Given the description of an element on the screen output the (x, y) to click on. 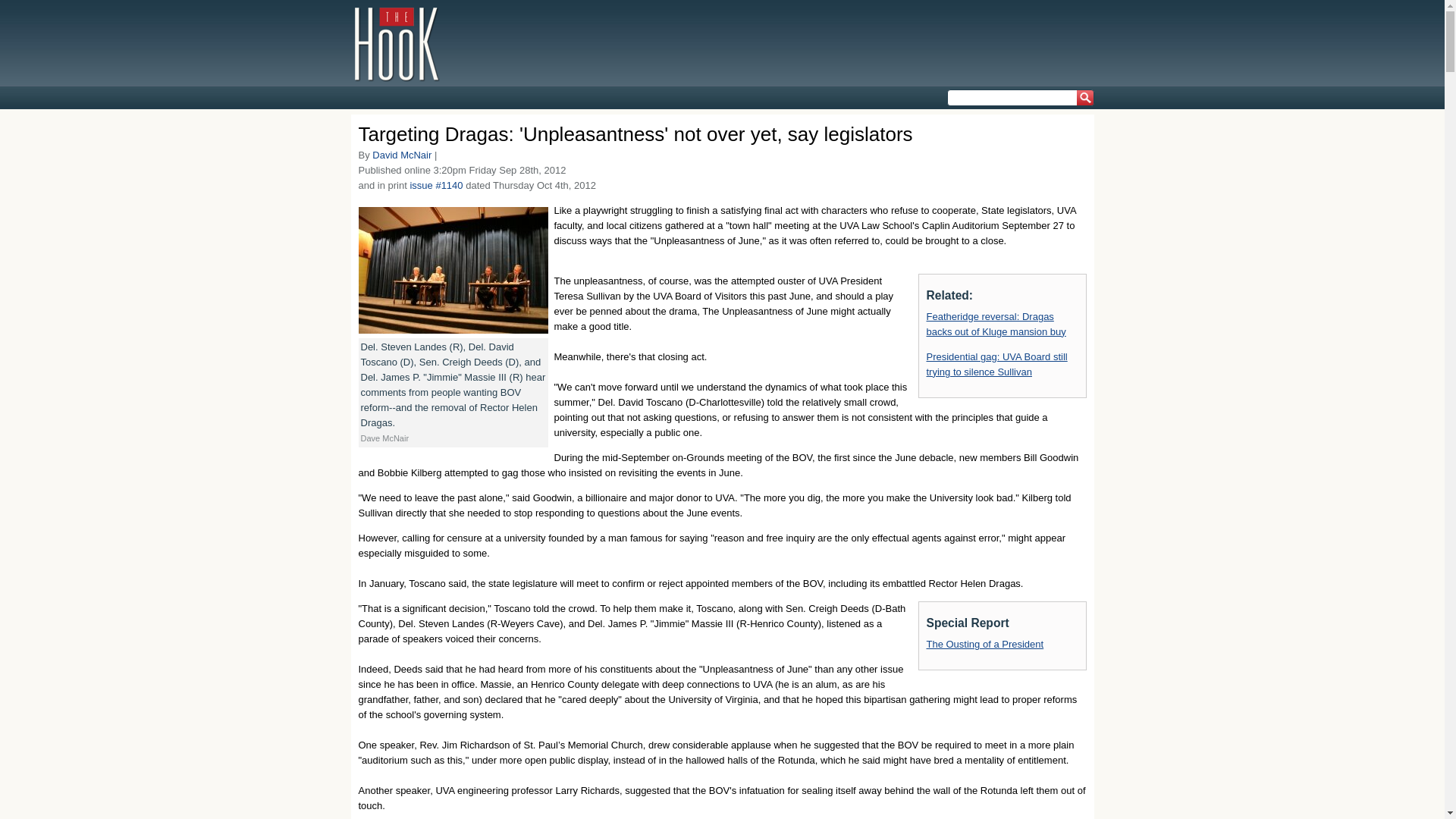
The Hook - Charlottesville's weekly newspaper, news magazine (397, 43)
The Ousting of a President (984, 644)
Search (1082, 102)
Presidential gag: UVA Board still trying to silence Sullivan (996, 364)
Search (1082, 102)
David McNair (401, 154)
Enter the terms you wish to search for. (1019, 97)
Featheridge reversal: Dragas backs out of Kluge mansion buy (995, 324)
